Given the description of an element on the screen output the (x, y) to click on. 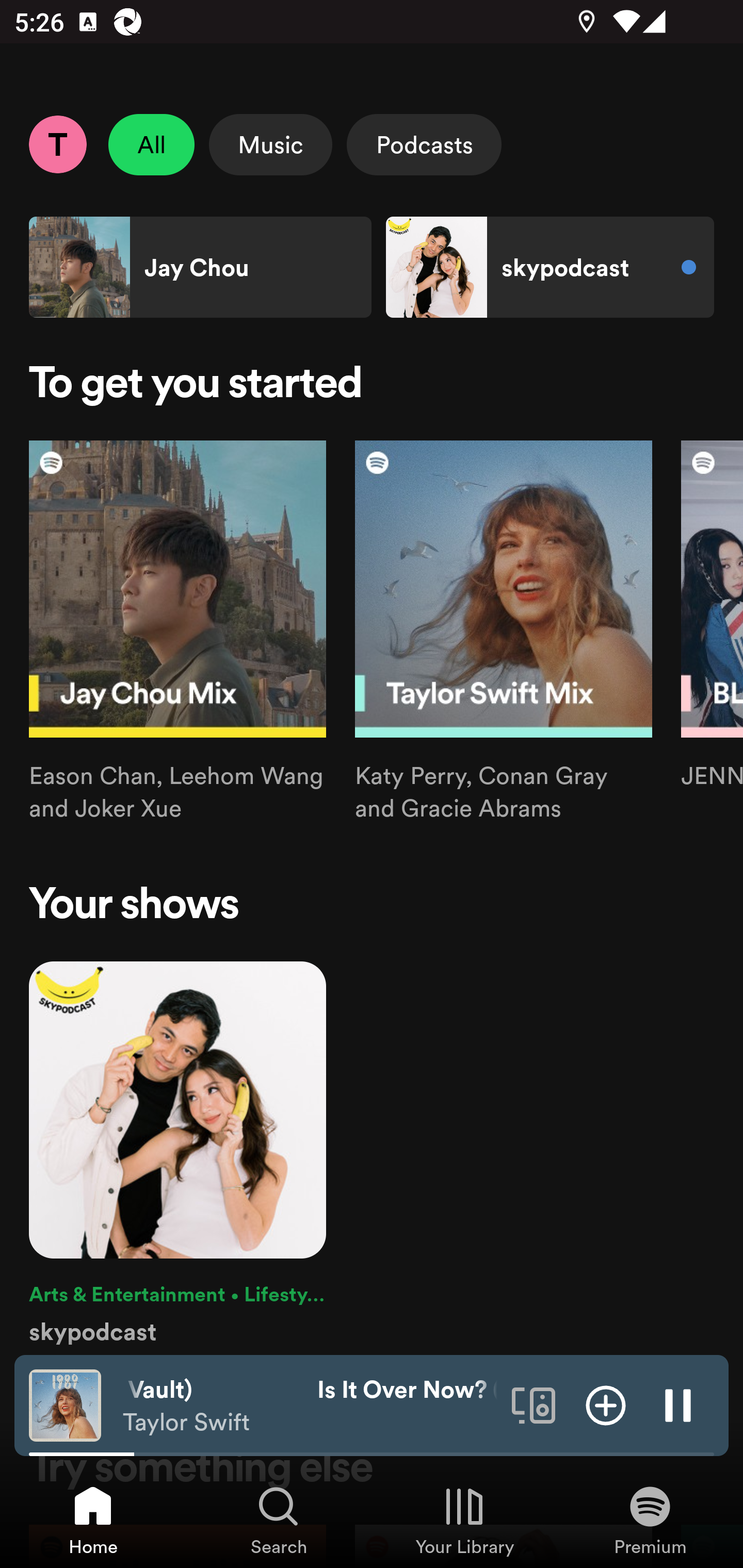
Profile (57, 144)
All Unselect All (151, 144)
Music Select Music (270, 144)
Podcasts Select Podcasts (423, 144)
Jay Chou Shortcut Jay Chou (199, 267)
skypodcast Shortcut skypodcast New content (549, 267)
The cover art of the currently playing track (64, 1404)
Connect to a device. Opens the devices menu (533, 1404)
Add item (605, 1404)
Pause (677, 1404)
Home, Tab 1 of 4 Home Home (92, 1519)
Search, Tab 2 of 4 Search Search (278, 1519)
Your Library, Tab 3 of 4 Your Library Your Library (464, 1519)
Premium, Tab 4 of 4 Premium Premium (650, 1519)
